Given the description of an element on the screen output the (x, y) to click on. 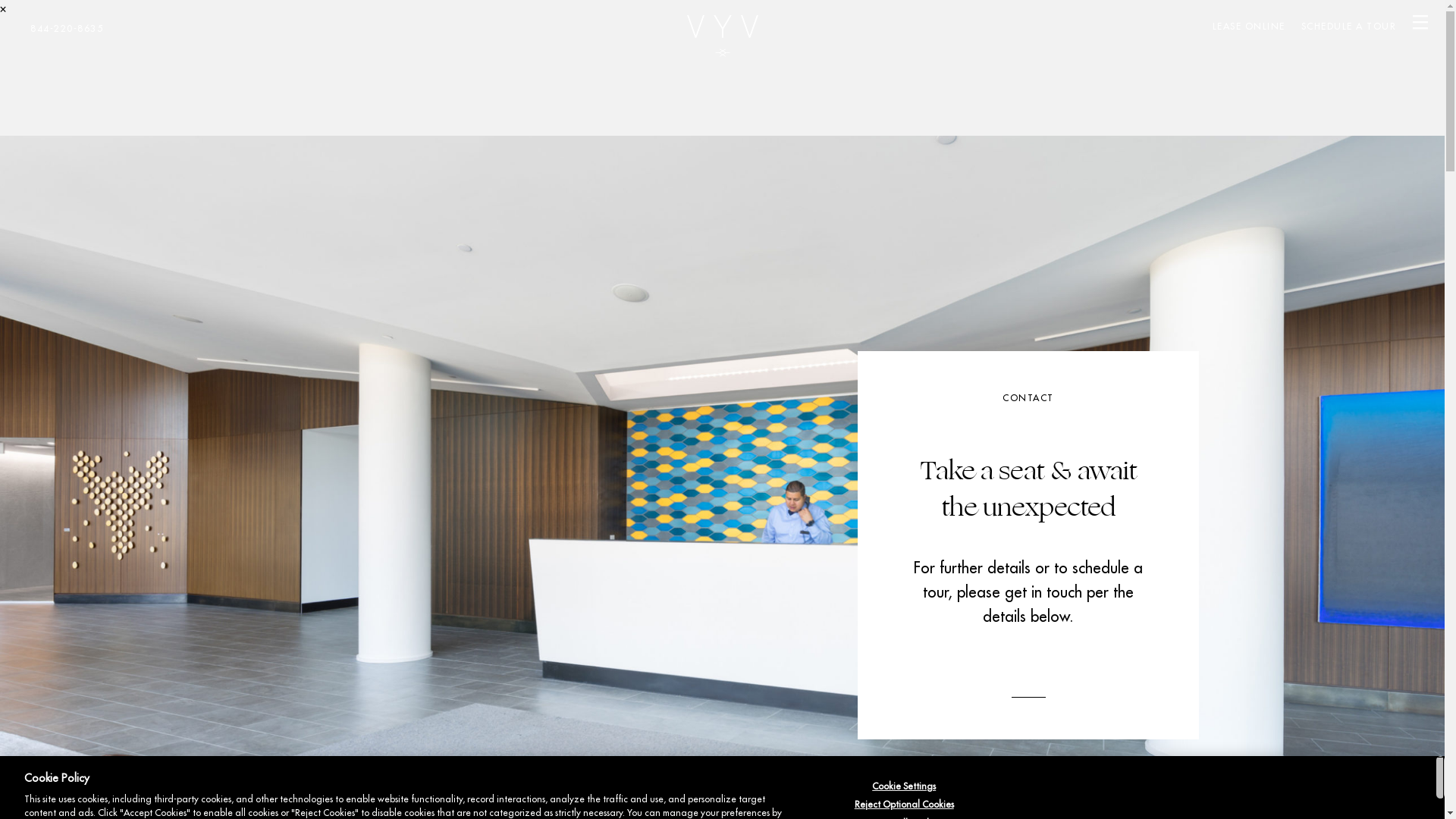
vyv-logo-white Element type: hover (722, 35)
844-220-8635 Element type: text (66, 28)
LEASE ONLINE Element type: text (1248, 26)
Reject Optional Cookies Element type: text (903, 804)
SCHEDULE A TOUR Element type: text (1348, 26)
Cookie Settings Element type: text (903, 786)
